Given the description of an element on the screen output the (x, y) to click on. 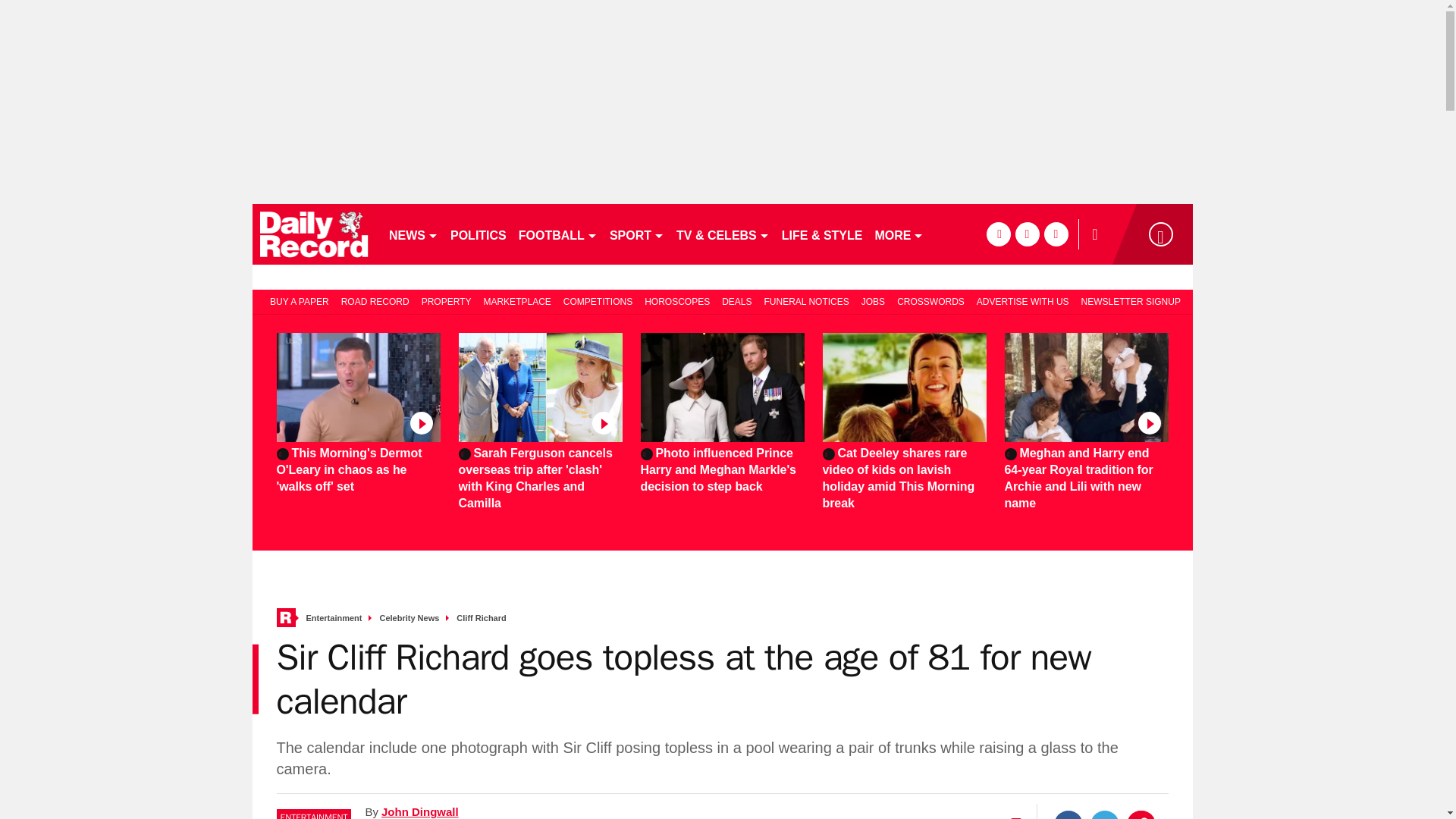
NEWS (413, 233)
facebook (997, 233)
instagram (1055, 233)
Twitter (1104, 814)
FOOTBALL (558, 233)
SPORT (636, 233)
dailyrecord (313, 233)
Facebook (1068, 814)
twitter (1026, 233)
POLITICS (478, 233)
